Given the description of an element on the screen output the (x, y) to click on. 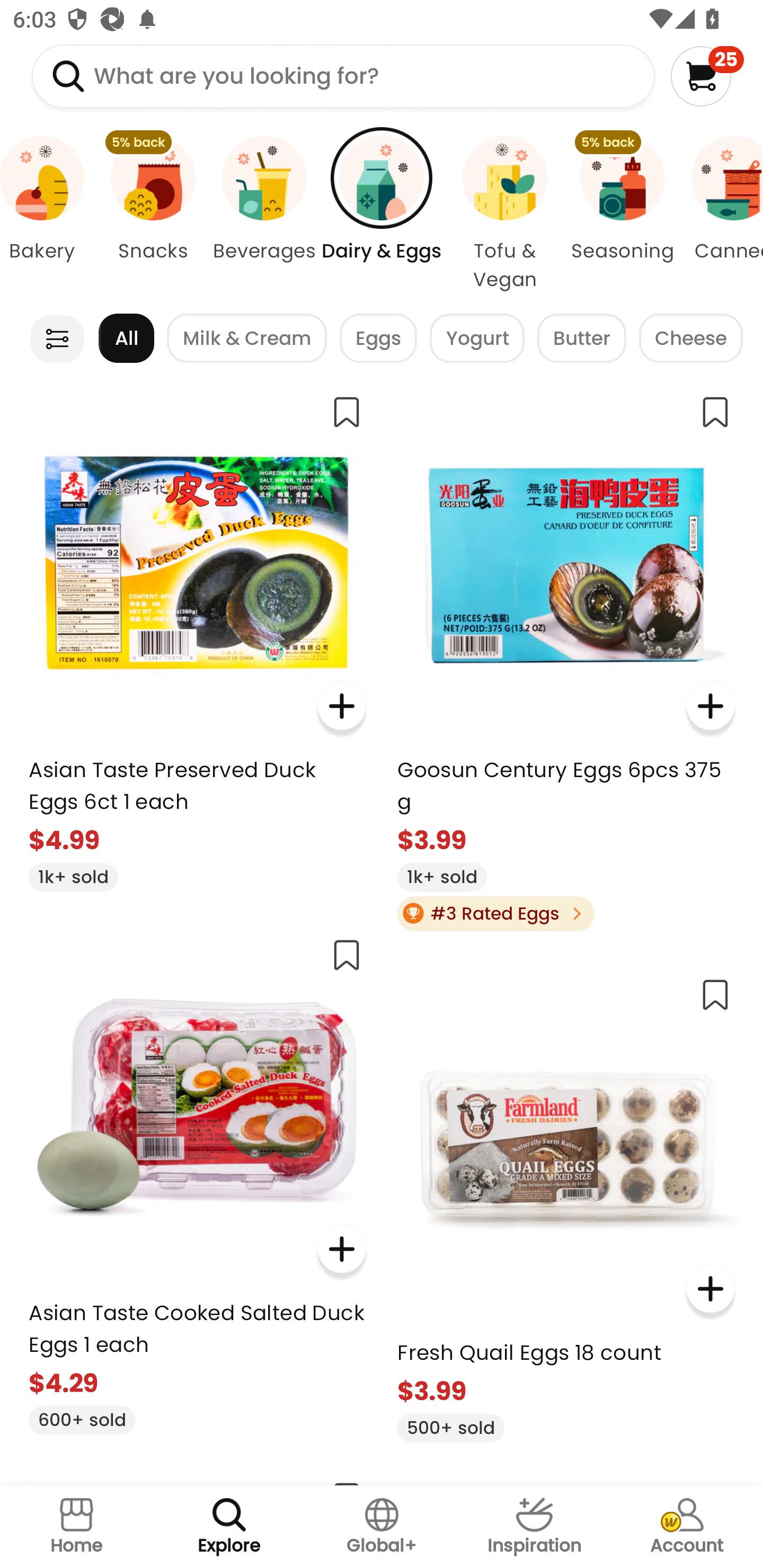
What are you looking for? (343, 75)
25 (706, 75)
Bakery (48, 214)
5% back Snacks (153, 214)
Beverages (264, 214)
Dairy & Eggs (381, 214)
Tofu & Vegan (504, 214)
5% back Seasoning (622, 214)
Canned (720, 214)
All (126, 337)
Milk & Cream (246, 337)
Eggs (378, 337)
Yogurt (476, 337)
Butter (581, 337)
Cheese (691, 337)
Fresh Quail Eggs 18 count $3.99 500+ sold (565, 1202)
Home (76, 1526)
Explore (228, 1526)
Global+ (381, 1526)
Inspiration (533, 1526)
Account (686, 1526)
